Given the description of an element on the screen output the (x, y) to click on. 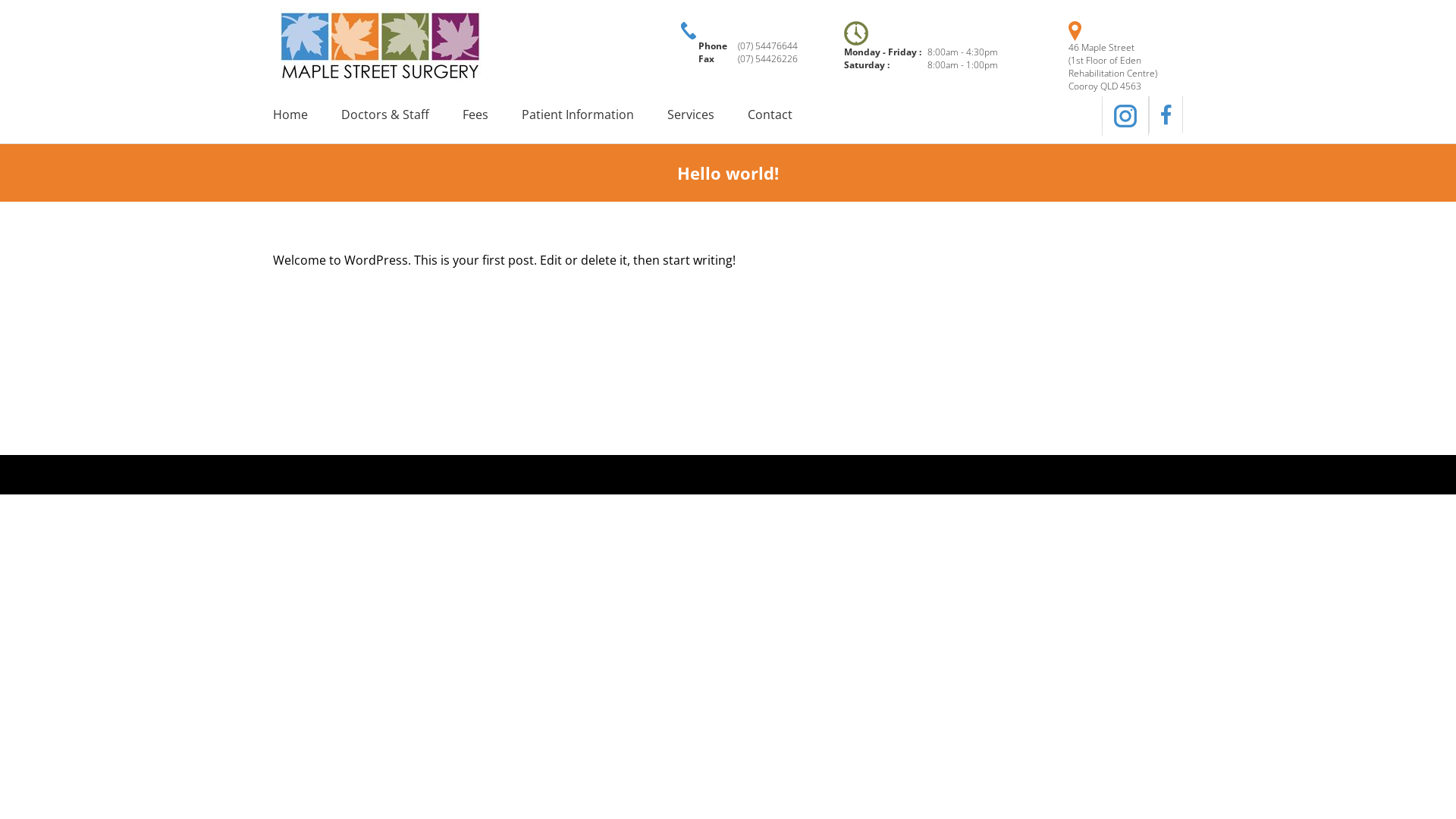
Doctors & Staff Element type: text (400, 114)
Contact Element type: text (784, 114)
Patient Information Element type: text (592, 114)
(07) 54426226 Element type: text (767, 58)
Fees Element type: text (490, 114)
Maple Street Surgery Element type: hover (381, 45)
Services Element type: text (705, 114)
Home Element type: text (305, 114)
(07) 54476644 Element type: text (767, 45)
